Given the description of an element on the screen output the (x, y) to click on. 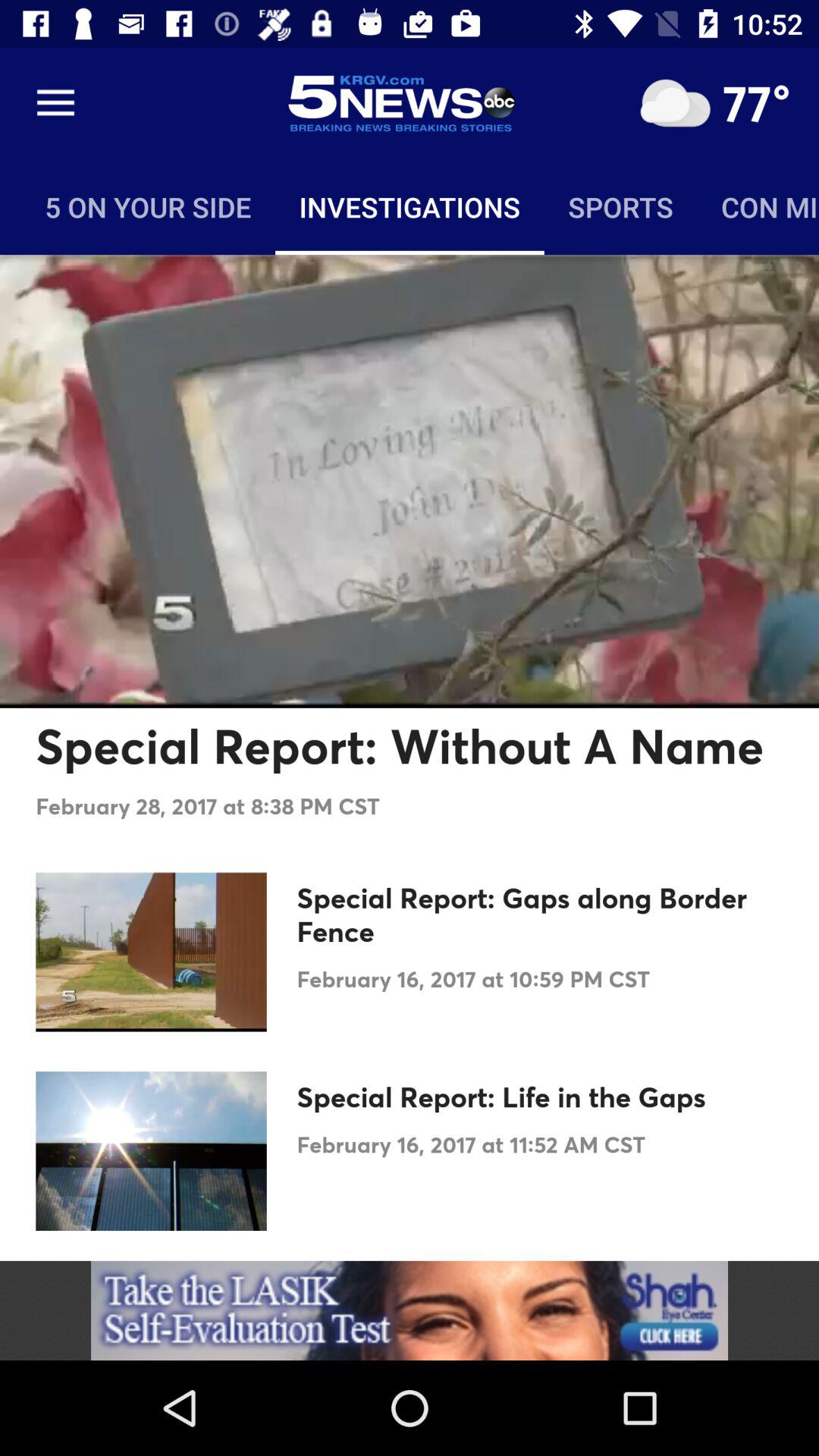
view weather (674, 103)
